Given the description of an element on the screen output the (x, y) to click on. 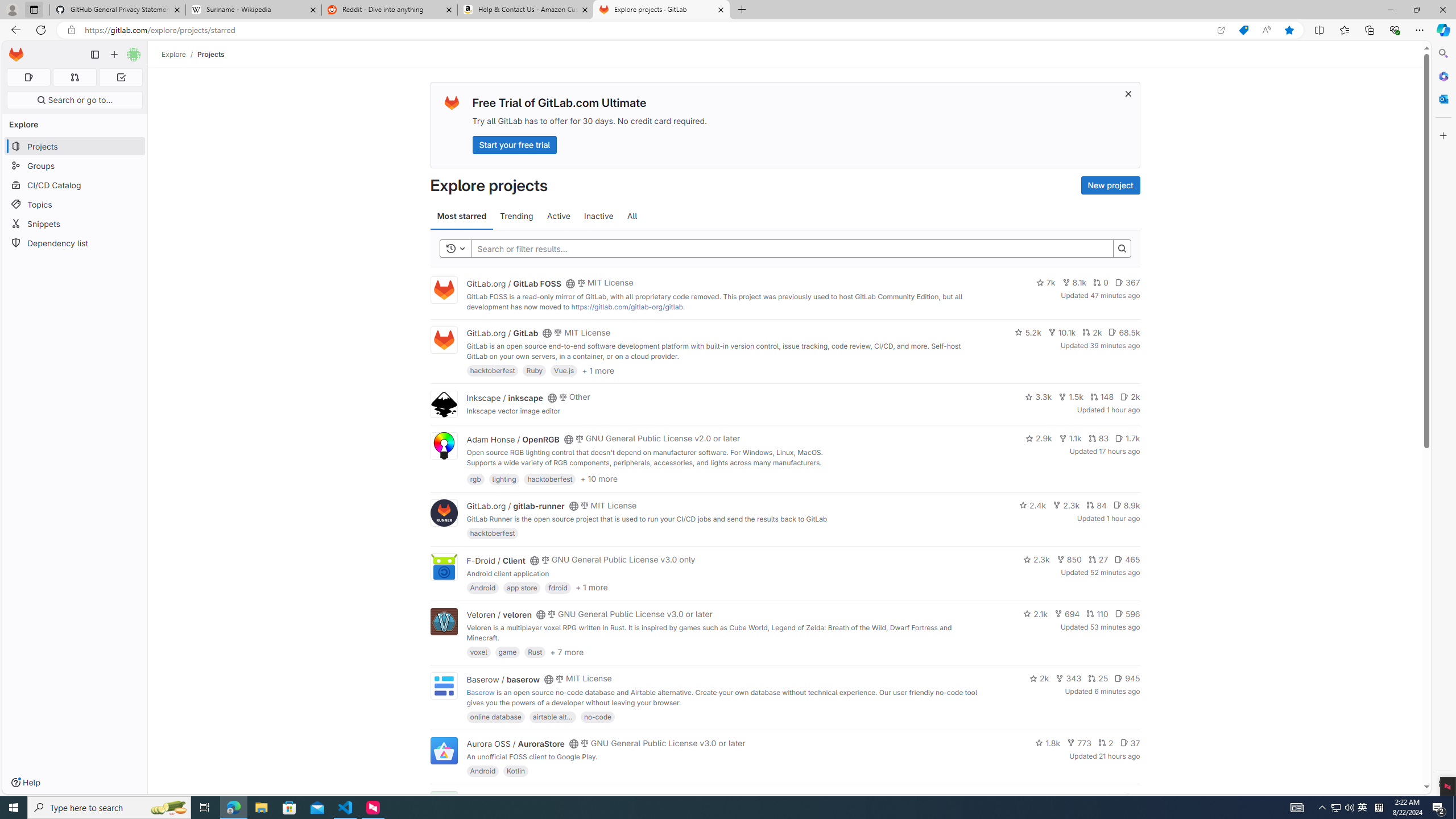
367 (1127, 282)
voxel (478, 651)
Projects (211, 53)
game (507, 651)
Ruby (533, 370)
Open in app (1220, 29)
148 (1101, 396)
